Given the description of an element on the screen output the (x, y) to click on. 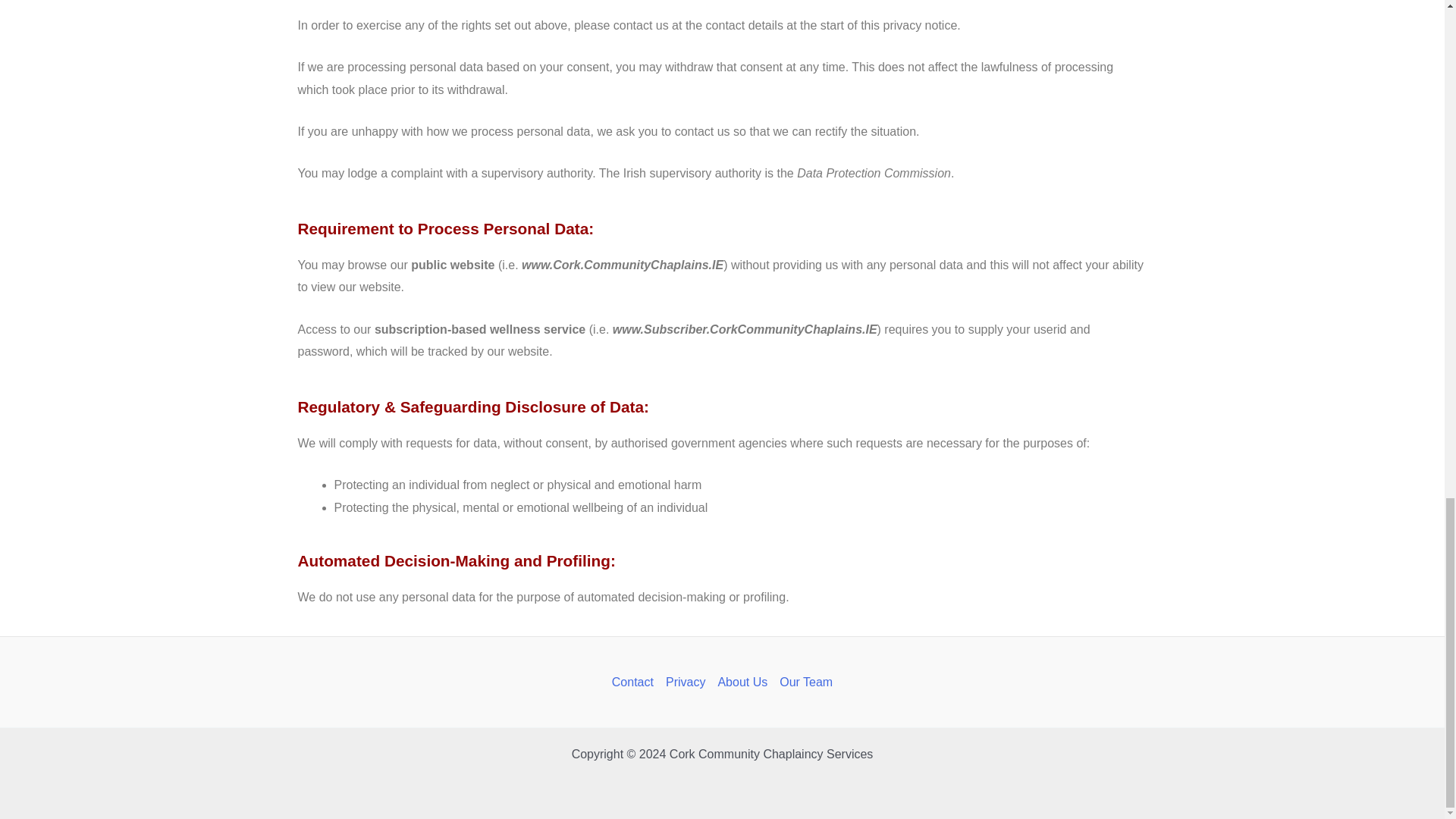
Contact (635, 681)
Our Team (802, 681)
About Us (742, 681)
Privacy (685, 681)
